Given the description of an element on the screen output the (x, y) to click on. 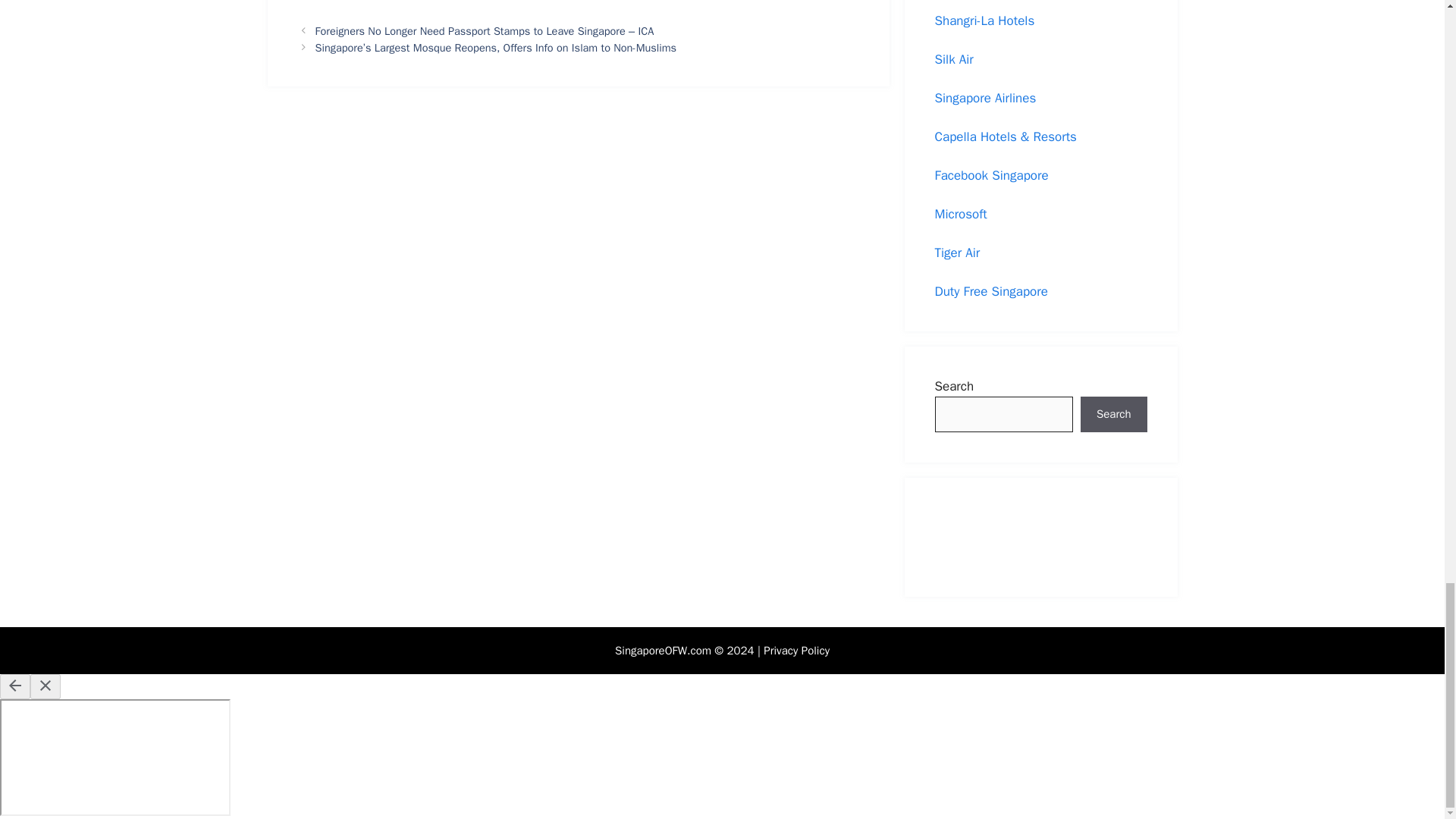
Shangri-La Hotels (983, 20)
Silk Air (953, 59)
Singapore Airlines (984, 98)
